Given the description of an element on the screen output the (x, y) to click on. 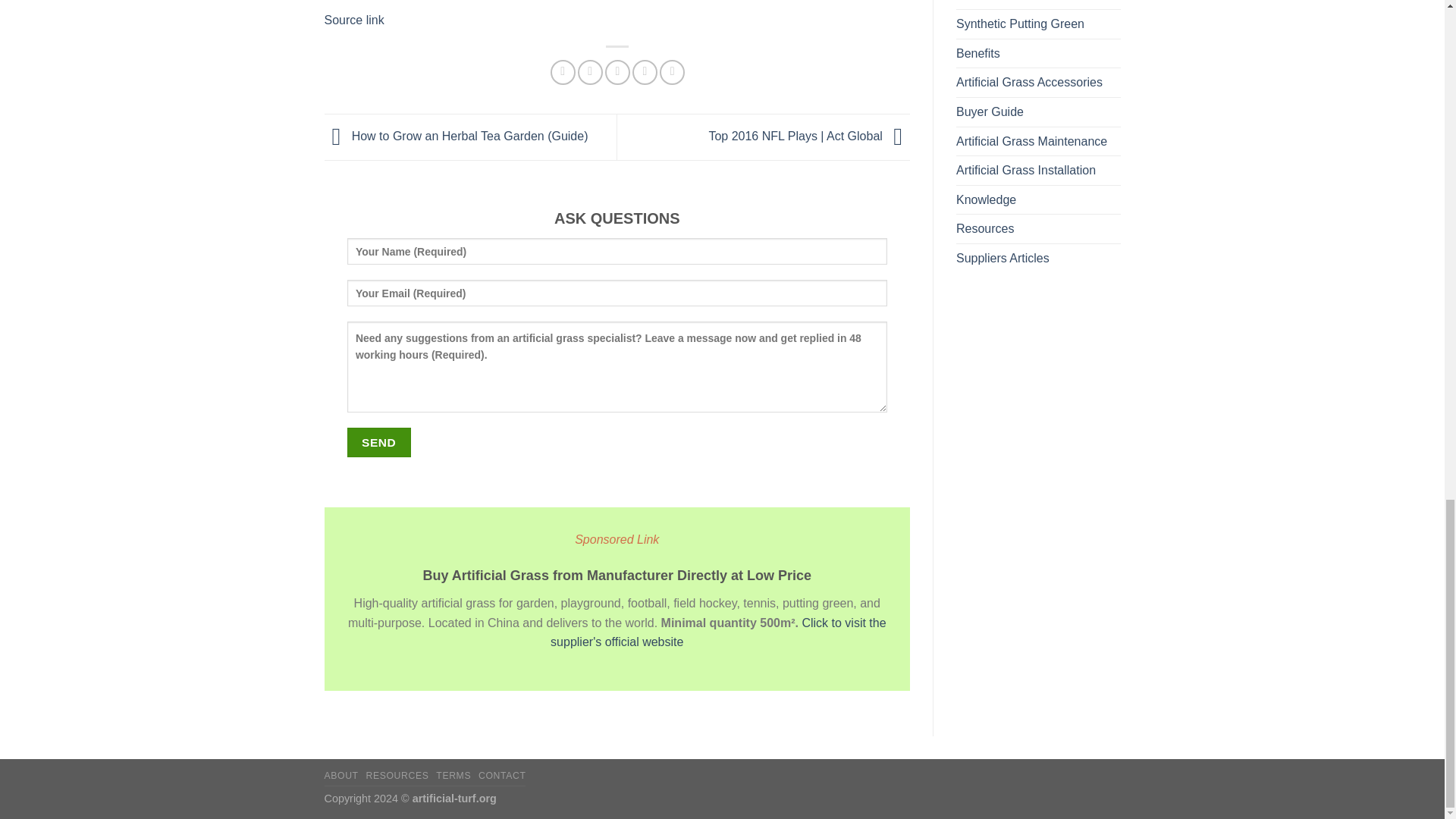
Send (378, 442)
Source link (354, 19)
Send (378, 442)
Click to visit the supplier's official website (717, 632)
